Given the description of an element on the screen output the (x, y) to click on. 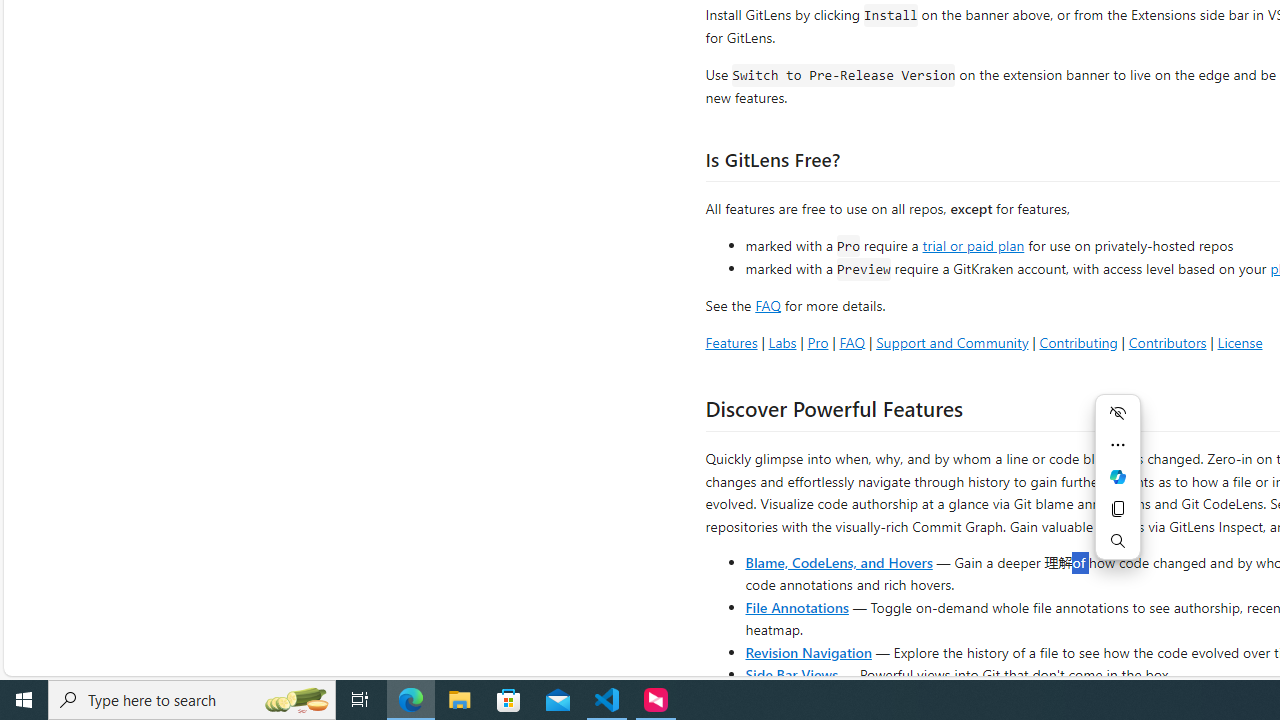
Contributing (1078, 341)
FAQ (852, 341)
Revision Navigation (807, 651)
File Annotations (796, 606)
Blame, CodeLens, and Hovers (838, 561)
trial or paid plan (973, 244)
Support and Community (952, 341)
More actions (1117, 444)
Pro (817, 341)
Side Bar Views (791, 673)
Ask Copilot (1117, 476)
License (1240, 341)
Features (731, 341)
